Given the description of an element on the screen output the (x, y) to click on. 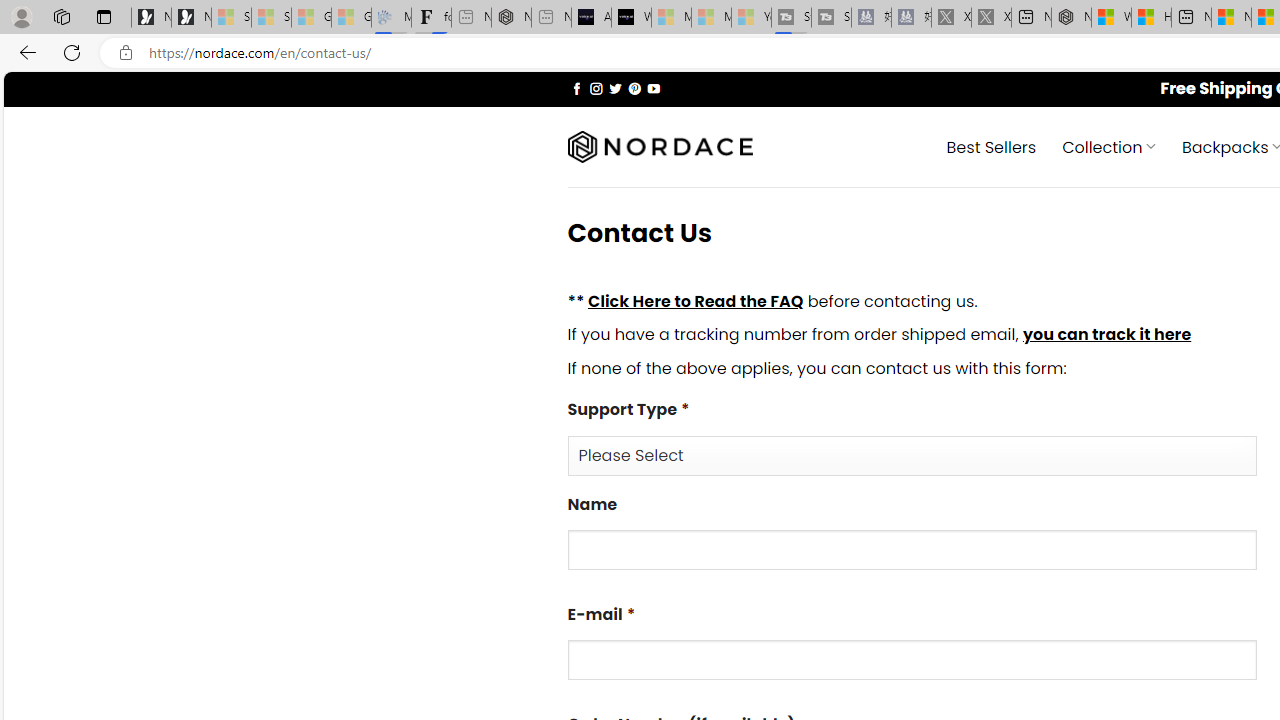
  Best Sellers (990, 146)
Microsoft Start - Sleeping (711, 17)
What's the best AI voice generator? - voice.ai (631, 17)
Nordace - My Account (1071, 17)
Wildlife - MSN (1111, 17)
Tab actions menu (104, 16)
you can track it here (1106, 335)
Follow on YouTube (653, 88)
New tab (1191, 17)
Follow on Twitter (615, 88)
Nordace (659, 147)
